Given the description of an element on the screen output the (x, y) to click on. 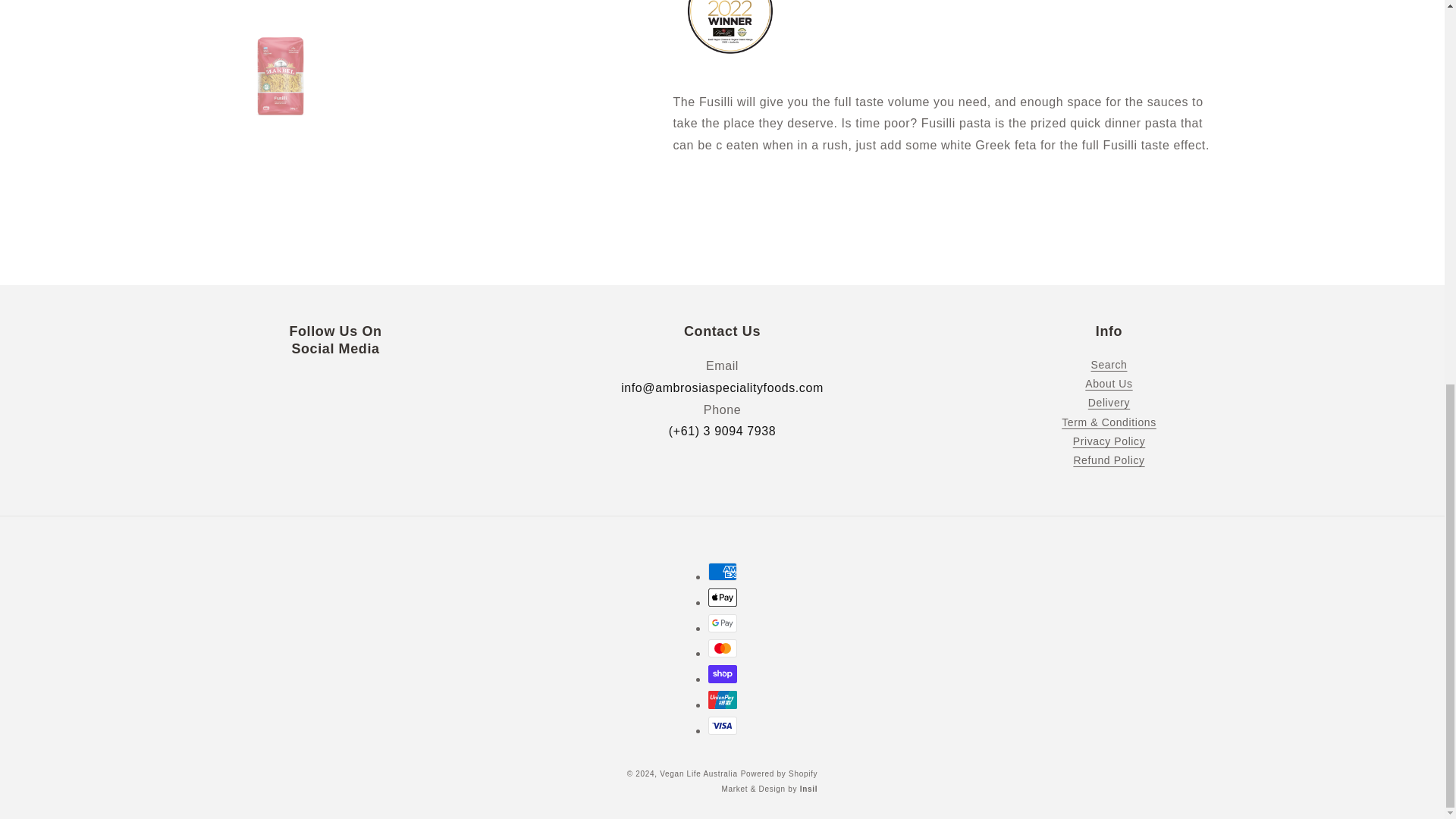
American Express (721, 571)
Union Pay (721, 700)
Shop Pay (721, 674)
Visa (721, 725)
Mastercard (721, 648)
Google Pay (721, 623)
Apple Pay (721, 597)
